Given the description of an element on the screen output the (x, y) to click on. 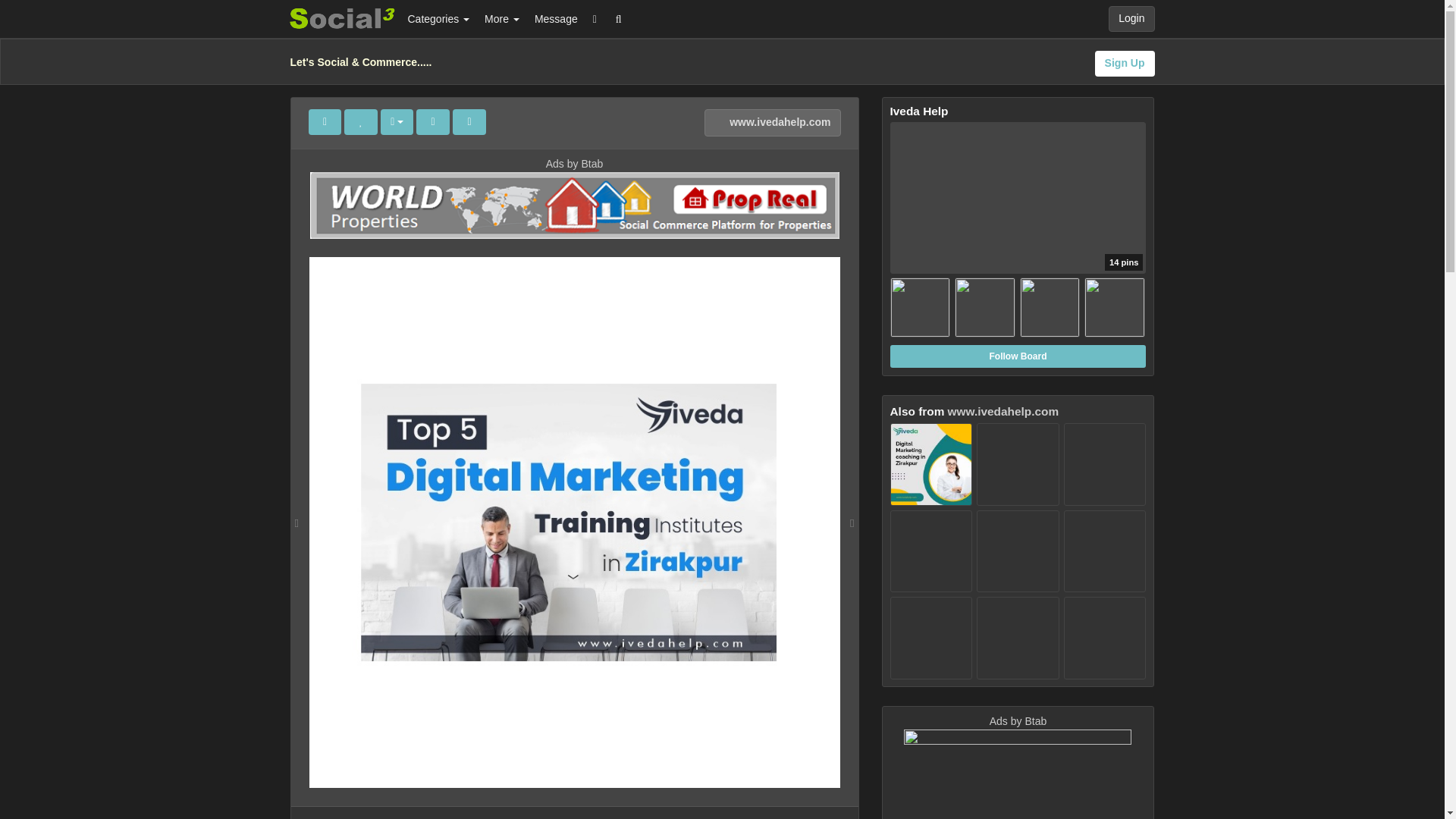
More (502, 18)
Categories (438, 18)
Report (469, 121)
Zoom (432, 121)
Sign Up (1124, 63)
Login (1131, 18)
Repin (323, 121)
Iveda Help (1018, 231)
Message (556, 18)
Like (360, 121)
